Given the description of an element on the screen output the (x, y) to click on. 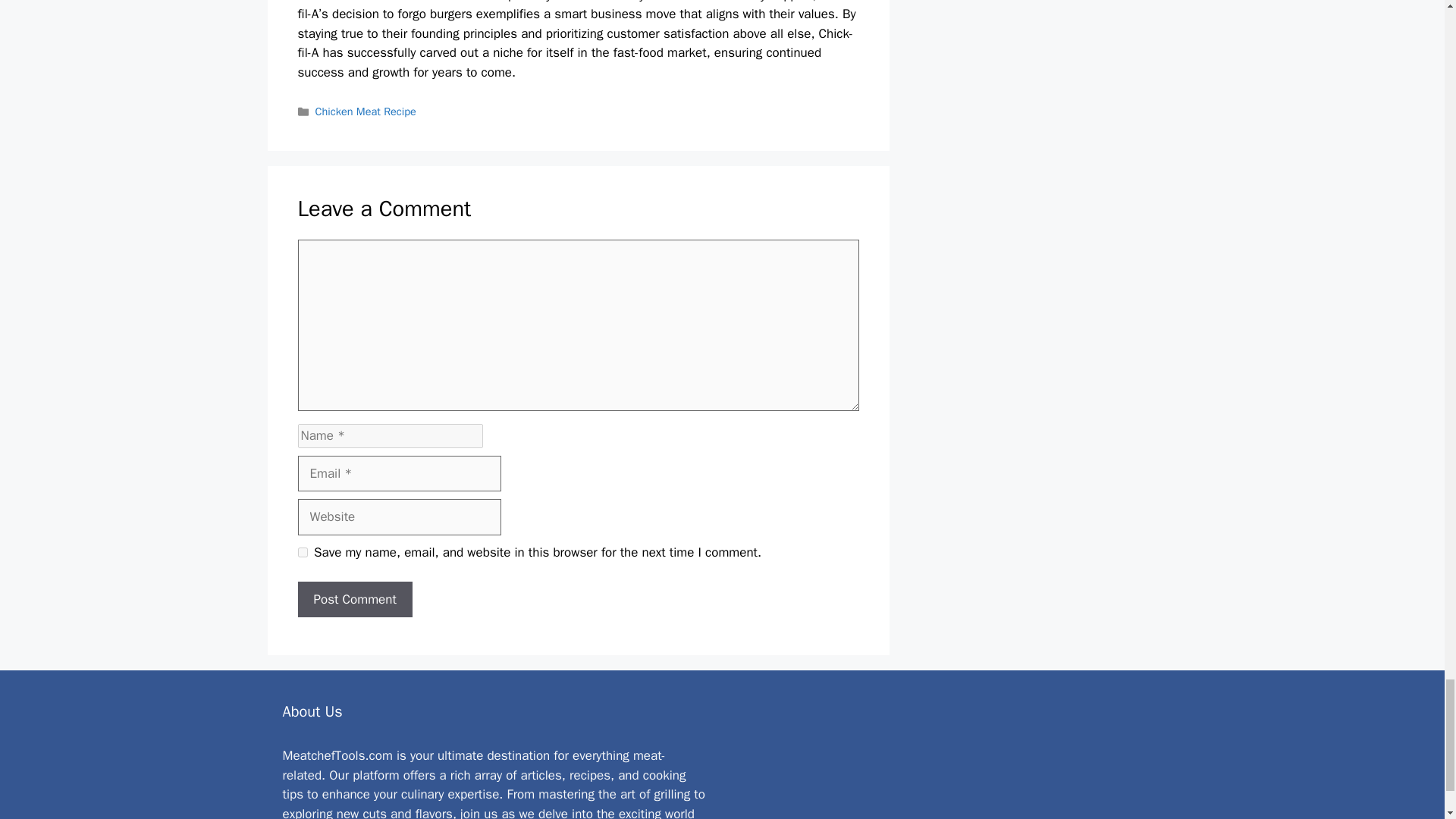
yes (302, 552)
Chicken Meat Recipe (365, 110)
Post Comment (354, 599)
Post Comment (354, 599)
